Given the description of an element on the screen output the (x, y) to click on. 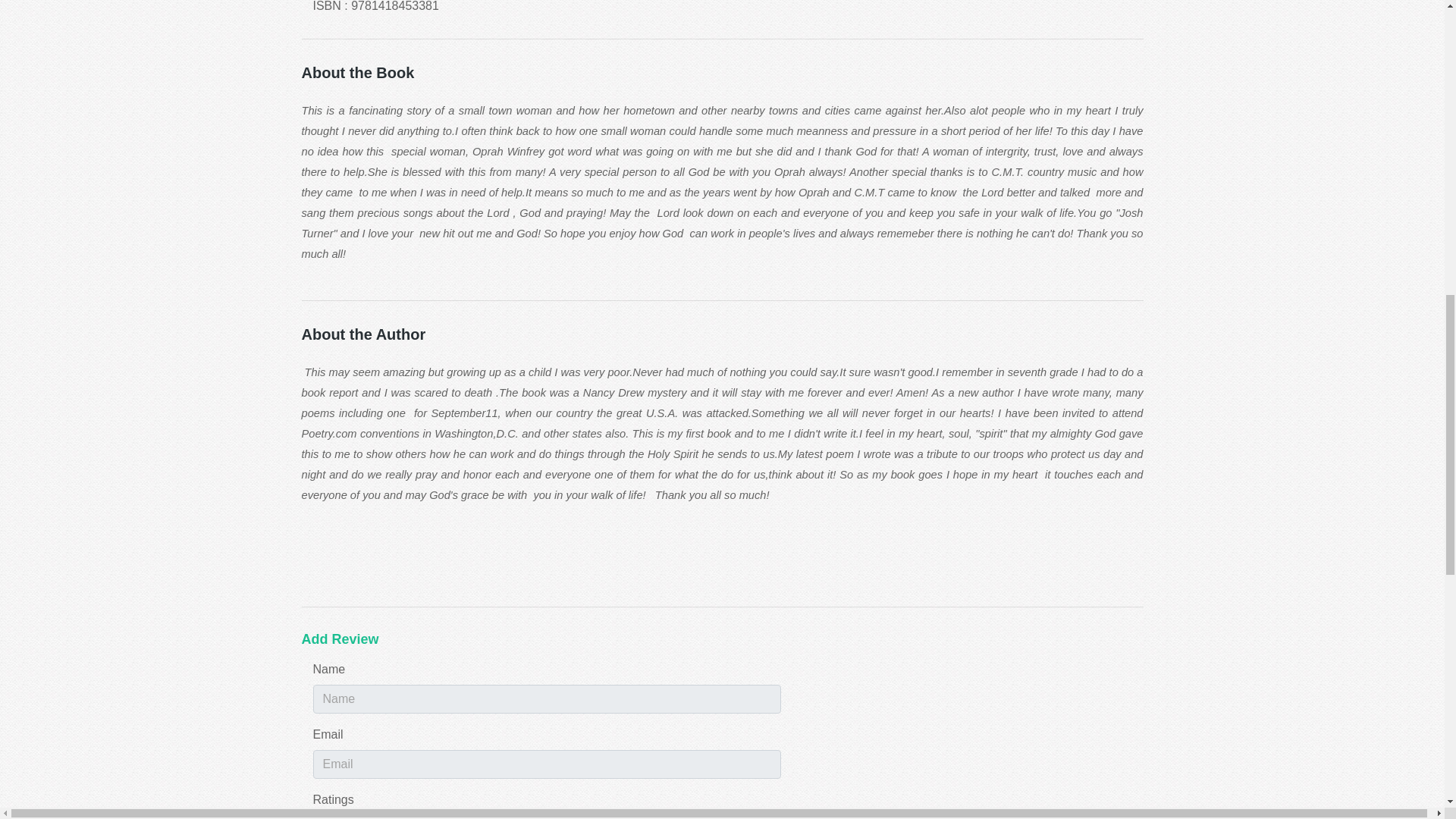
Not Rated (342, 818)
